Given the description of an element on the screen output the (x, y) to click on. 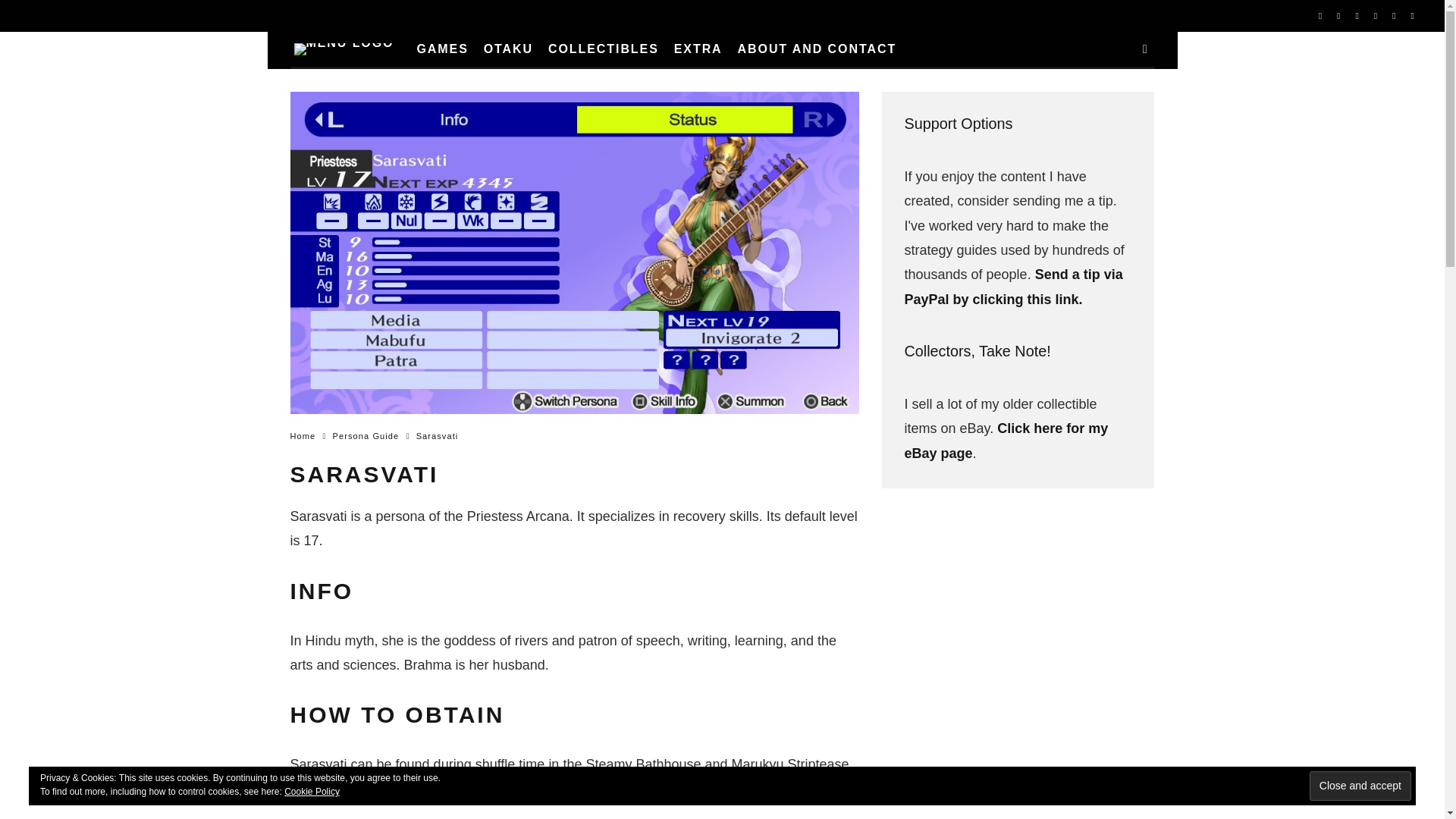
Close and accept (1359, 785)
OTAKU (508, 48)
GAMES (442, 48)
